Given the description of an element on the screen output the (x, y) to click on. 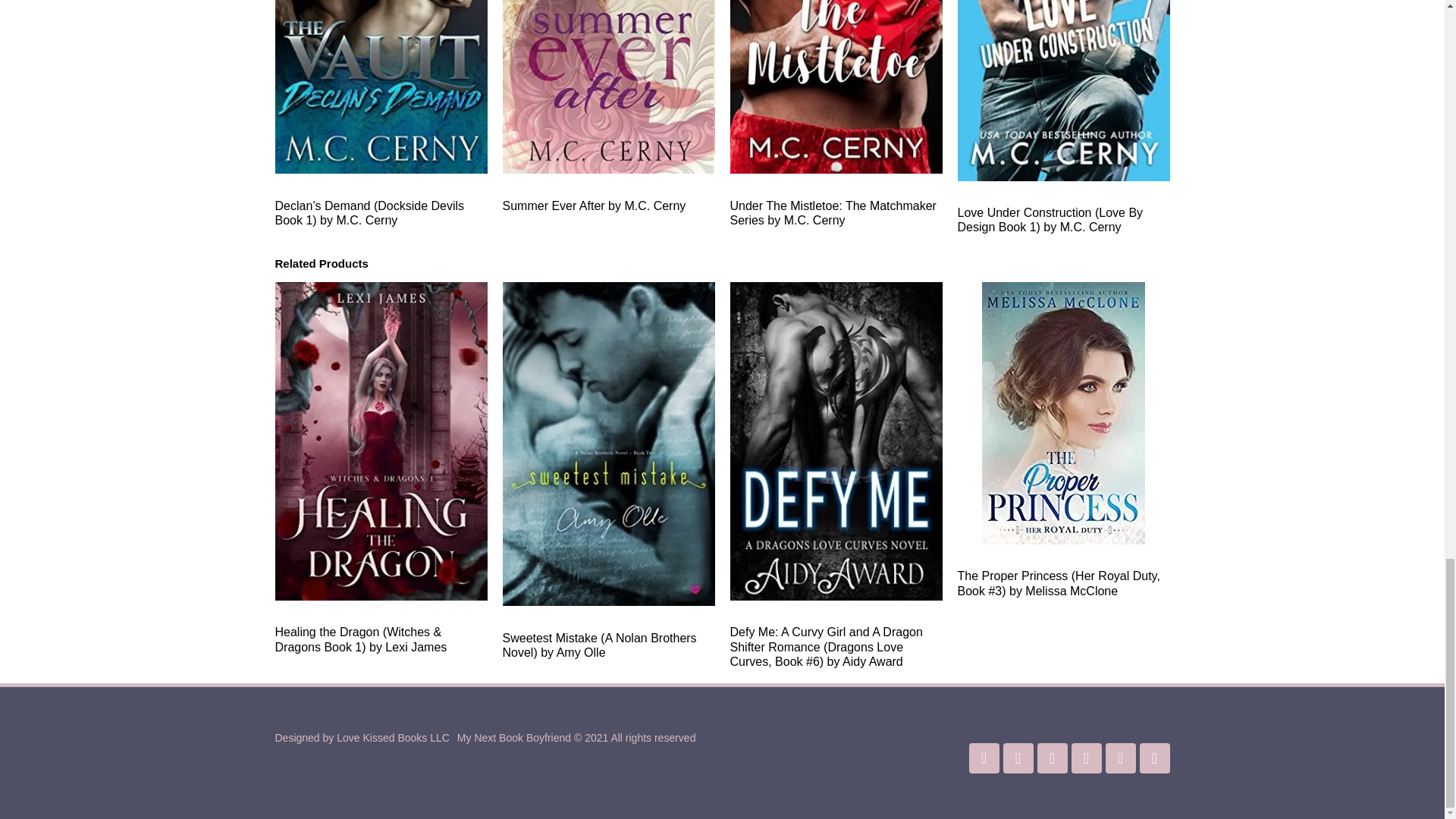
Under The Mistletoe: The Matchmaker Series by M.C. Cerny (835, 113)
Summer Ever After by M.C. Cerny (608, 106)
